Given the description of an element on the screen output the (x, y) to click on. 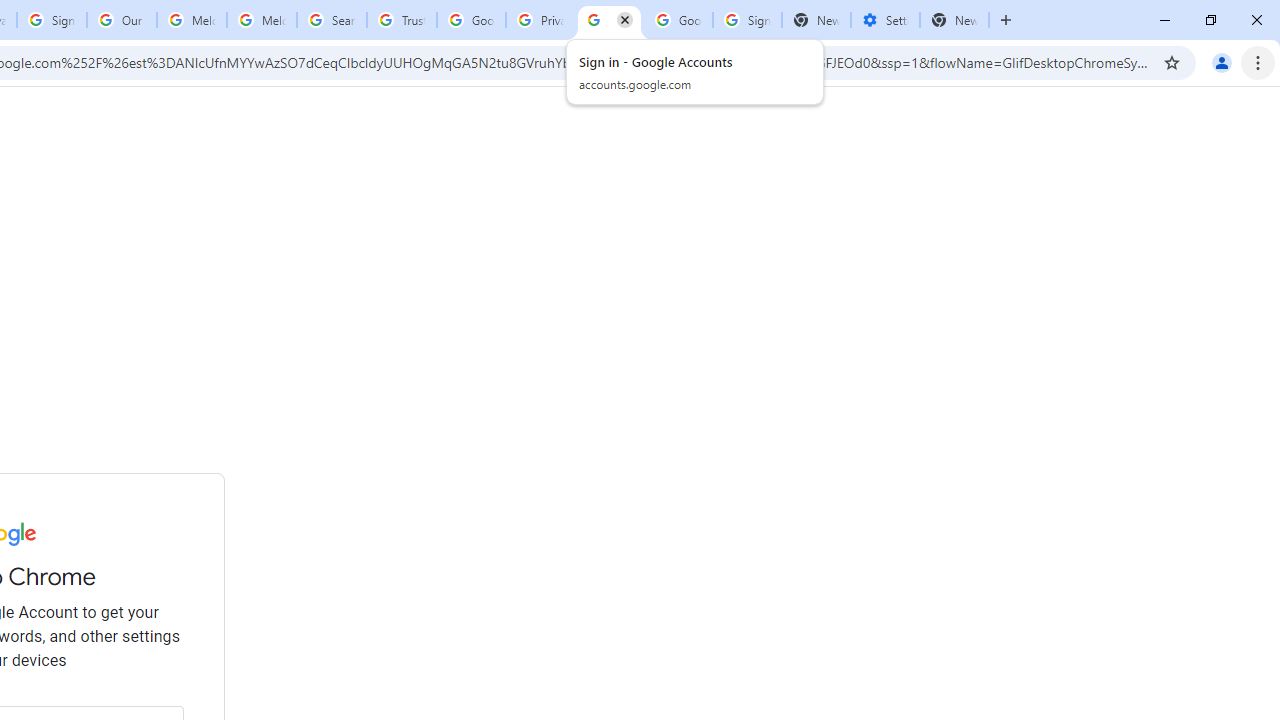
Sign in - Google Accounts (747, 20)
Search our Doodle Library Collection - Google Doodles (332, 20)
New Tab (954, 20)
Google Cybersecurity Innovations - Google Safety Center (677, 20)
Google Ads - Sign in (470, 20)
Trusted Information and Content - Google Safety Center (401, 20)
